Given the description of an element on the screen output the (x, y) to click on. 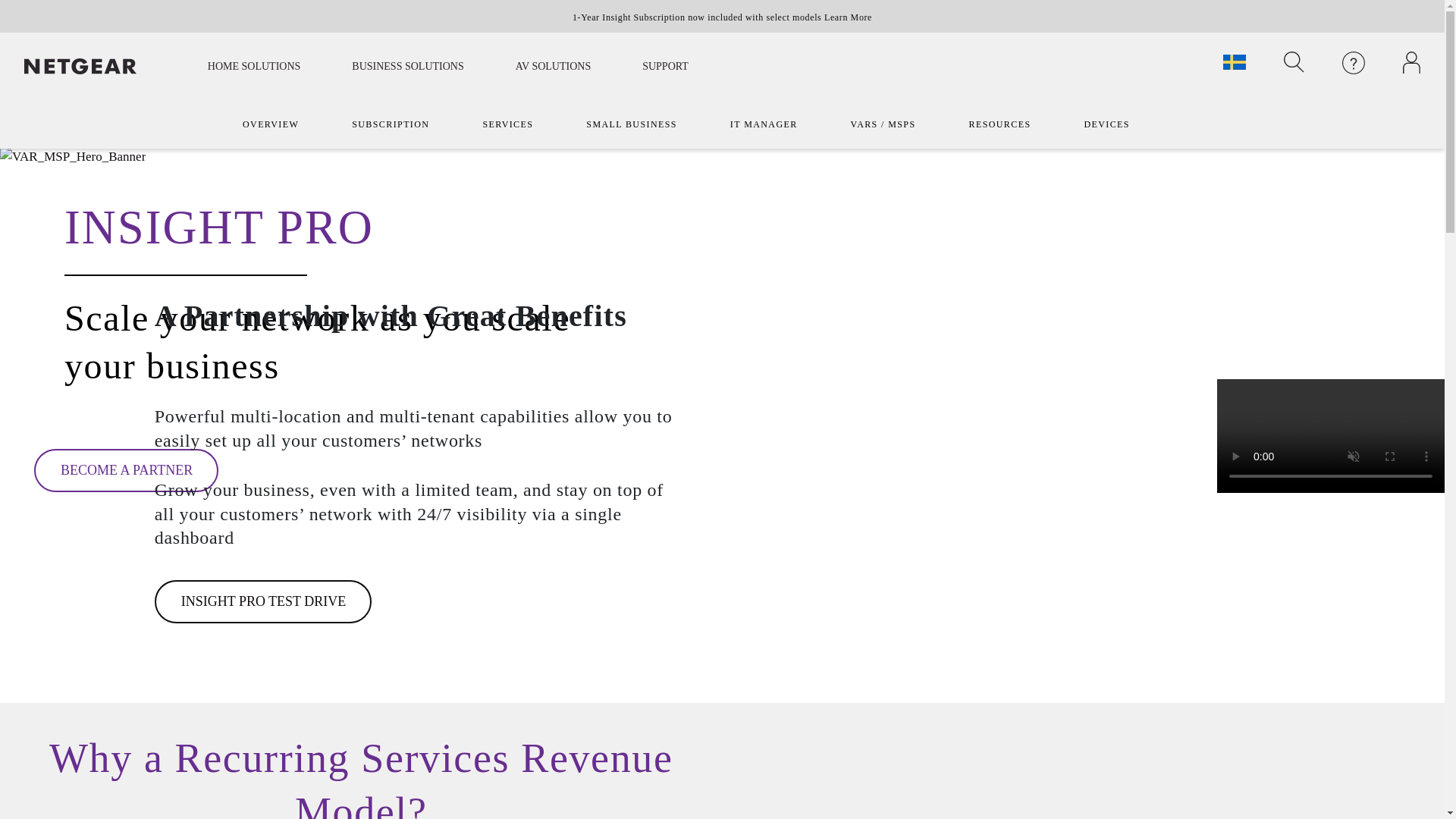
BUSINESS SOLUTIONS (408, 65)
HOME SOLUTIONS (253, 65)
